Given the description of an element on the screen output the (x, y) to click on. 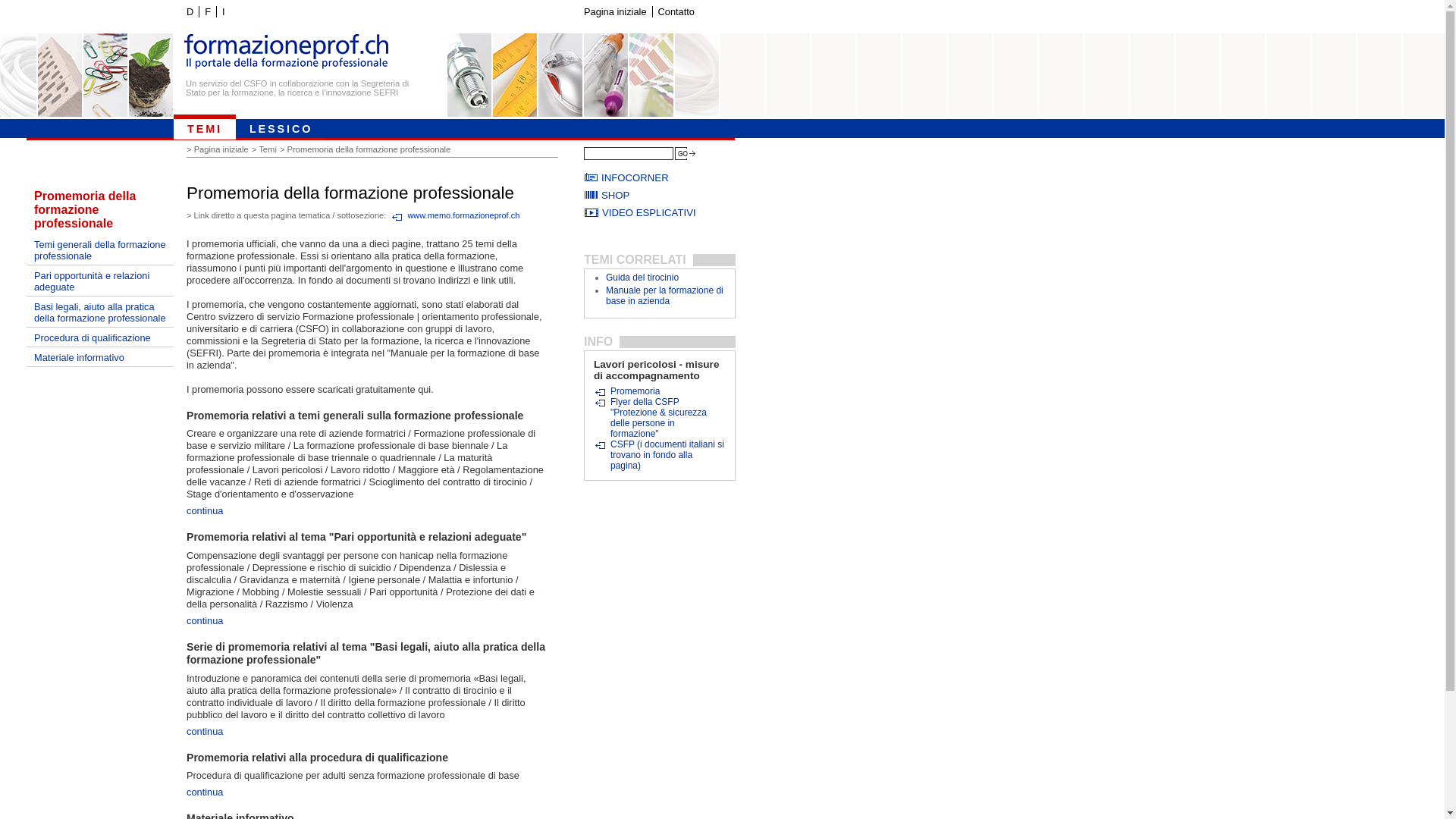
LESSICO Element type: text (280, 126)
Pagina iniziale Element type: text (222, 148)
Guida del tirocinio Element type: text (641, 277)
Promemoria della formazione professionale Element type: text (99, 209)
continua Element type: text (204, 731)
SHOP Element type: text (659, 195)
Promemoria Element type: text (626, 390)
Procedura di qualificazione Element type: text (99, 337)
continua Element type: text (204, 510)
D Element type: text (189, 11)
Manuale per la formazione di base in azienda Element type: text (664, 295)
continua Element type: text (204, 620)
INFOCORNER Element type: text (659, 177)
www.memo.formazioneprof.ch Element type: text (454, 215)
Temi Element type: text (268, 148)
TEMI Element type: text (204, 126)
Pagina iniziale Element type: text (614, 11)
F Element type: text (207, 11)
continua Element type: text (204, 791)
Promemoria della formazione professionale Element type: text (370, 148)
Materiale informativo Element type: text (99, 357)
CSFP (i documenti italiani si trovano in fondo alla pagina) Element type: text (658, 454)
Temi generali della formazione professionale Element type: text (99, 249)
I Element type: text (223, 11)
VIDEO ESPLICATIVI Element type: text (659, 212)
Contatto Element type: text (675, 11)
